Given the description of an element on the screen output the (x, y) to click on. 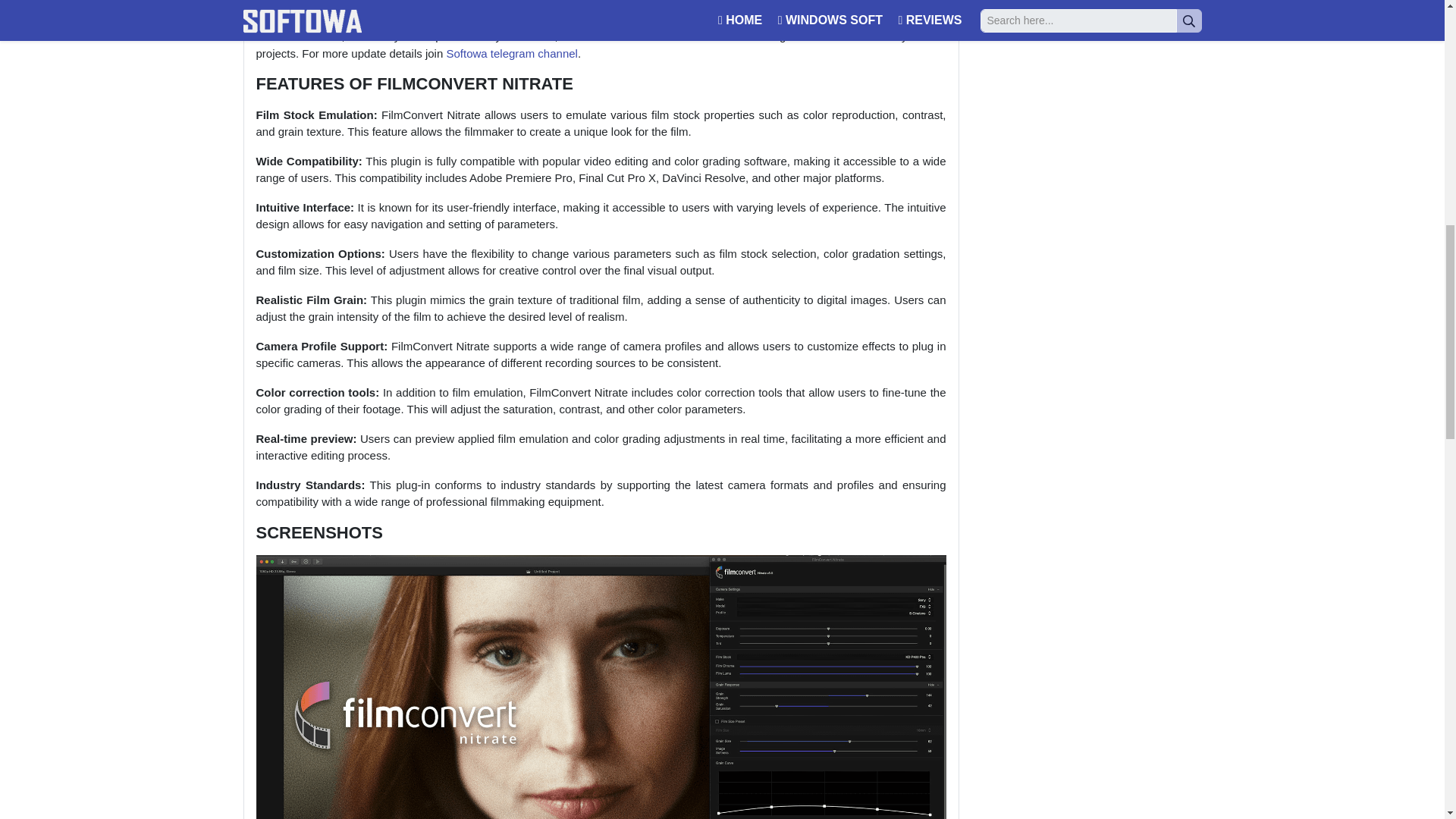
Softowa telegram channel (510, 52)
